Given the description of an element on the screen output the (x, y) to click on. 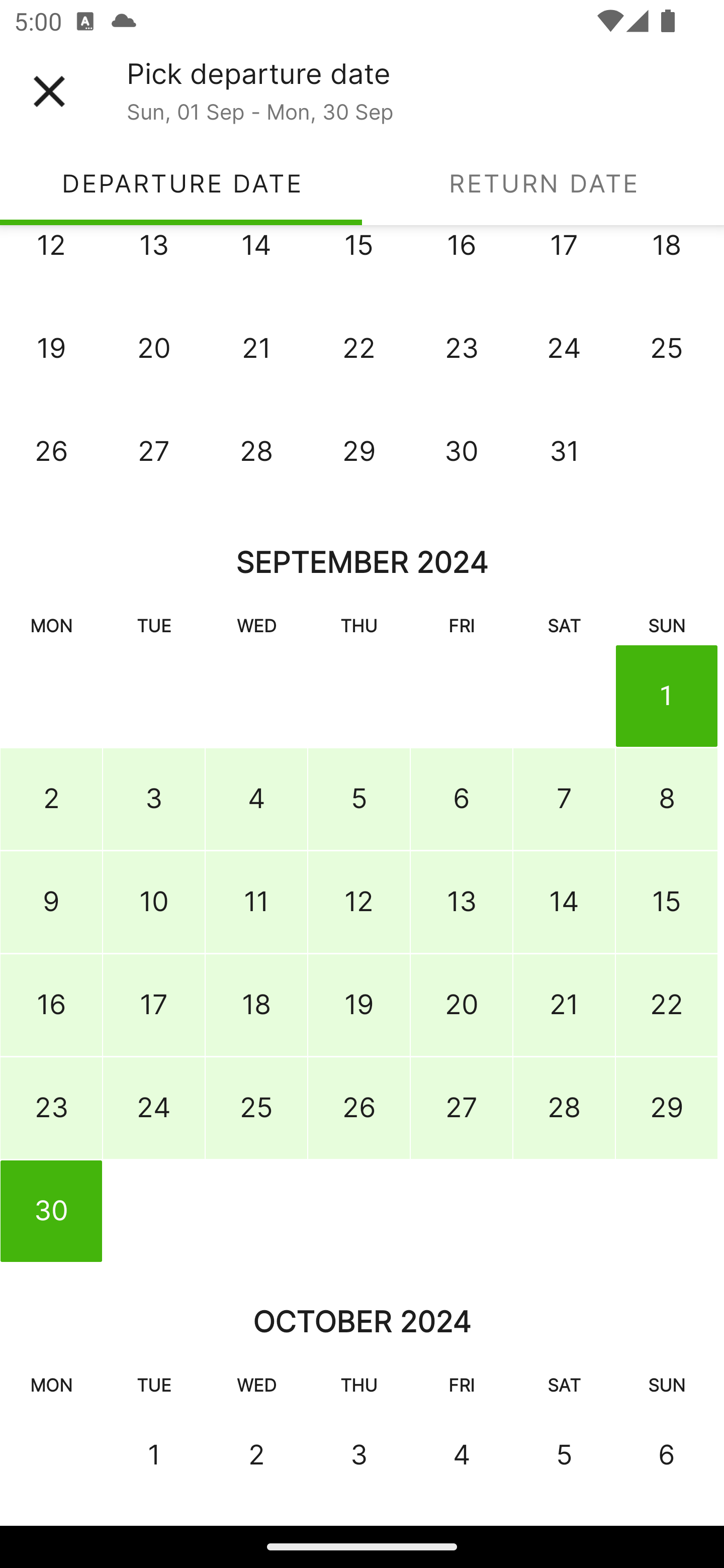
Return Date RETURN DATE (543, 183)
